Given the description of an element on the screen output the (x, y) to click on. 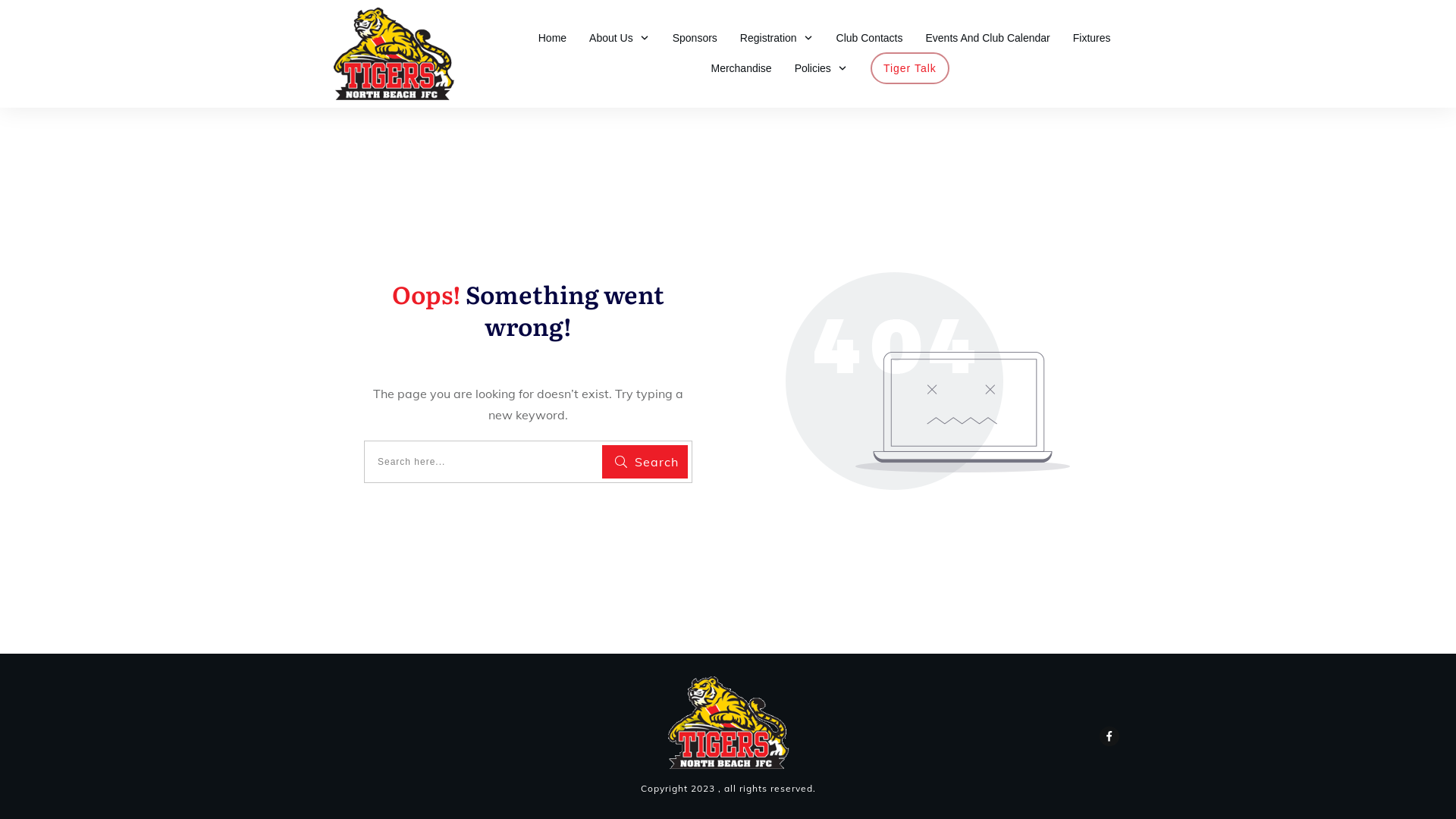
Events And Club Calendar Element type: text (987, 37)
404 Element type: hover (927, 380)
Search Element type: text (644, 461)
Home Element type: text (552, 37)
Policies Element type: text (820, 67)
Club Contacts Element type: text (869, 37)
Sponsors Element type: text (694, 37)
Fixtures Element type: text (1091, 37)
Merchandise Element type: text (740, 67)
About Us Element type: text (619, 37)
Tiger Talk Element type: text (909, 67)
Registration Element type: text (776, 37)
